Given the description of an element on the screen output the (x, y) to click on. 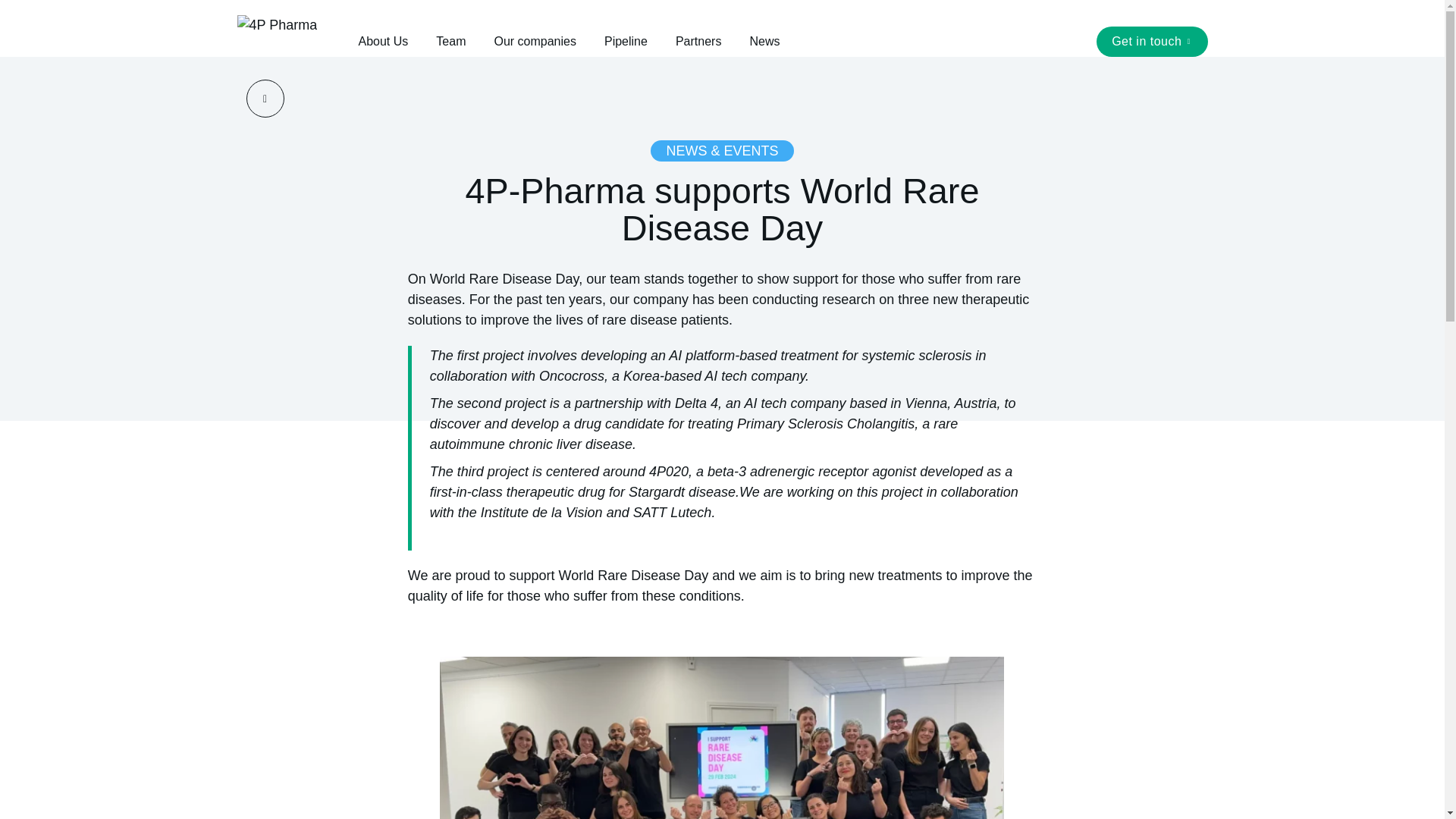
Team (450, 41)
Partners (697, 41)
Get in touch (1151, 41)
News (763, 41)
About Us (382, 41)
Our companies (534, 41)
Back to news (264, 98)
Pipeline (625, 41)
